Given the description of an element on the screen output the (x, y) to click on. 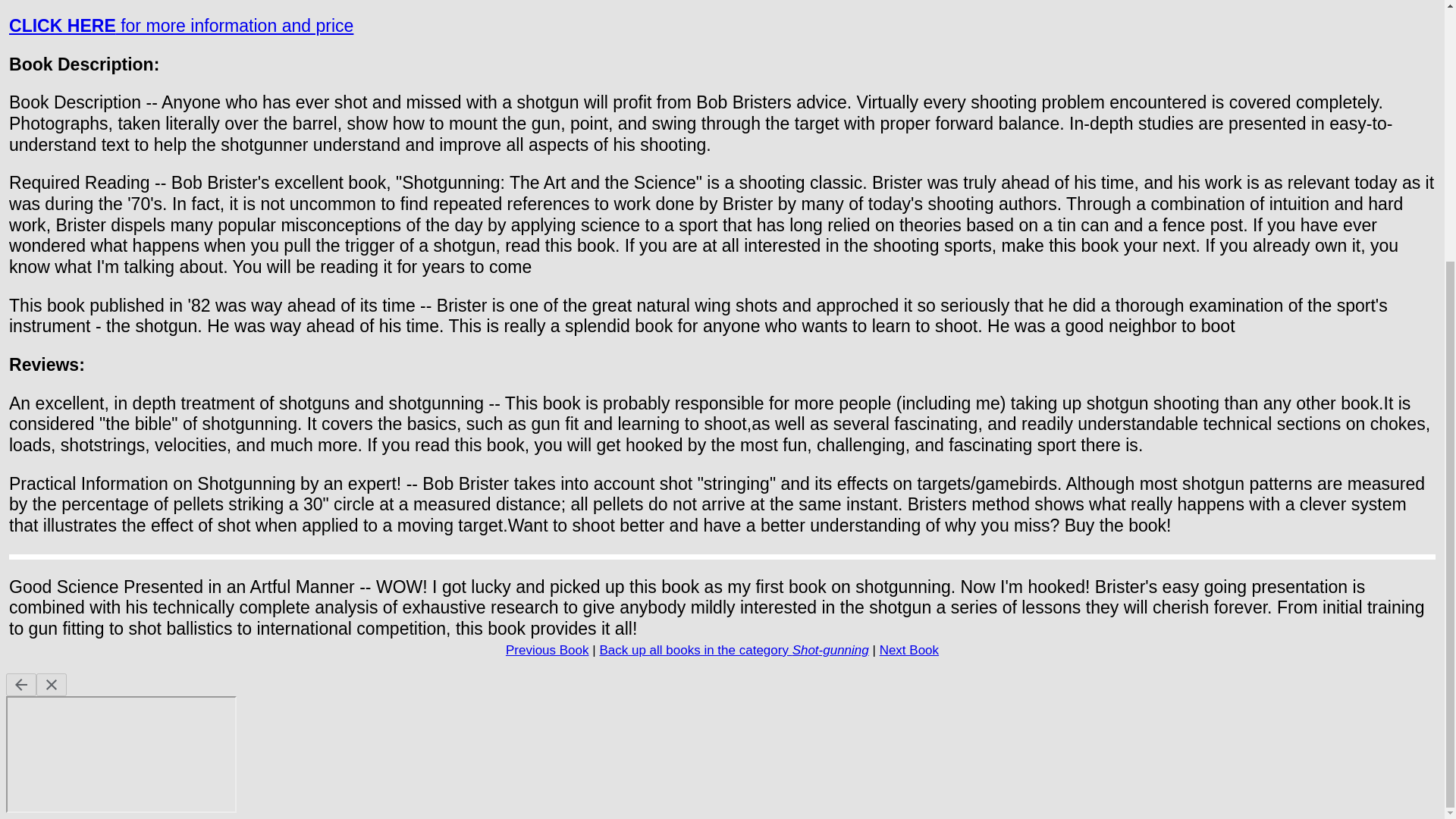
CLICK HERE for more information and price (180, 25)
Next Book (909, 649)
Previous Book (547, 649)
Back up all books in the category Shot-gunning (732, 649)
